Given the description of an element on the screen output the (x, y) to click on. 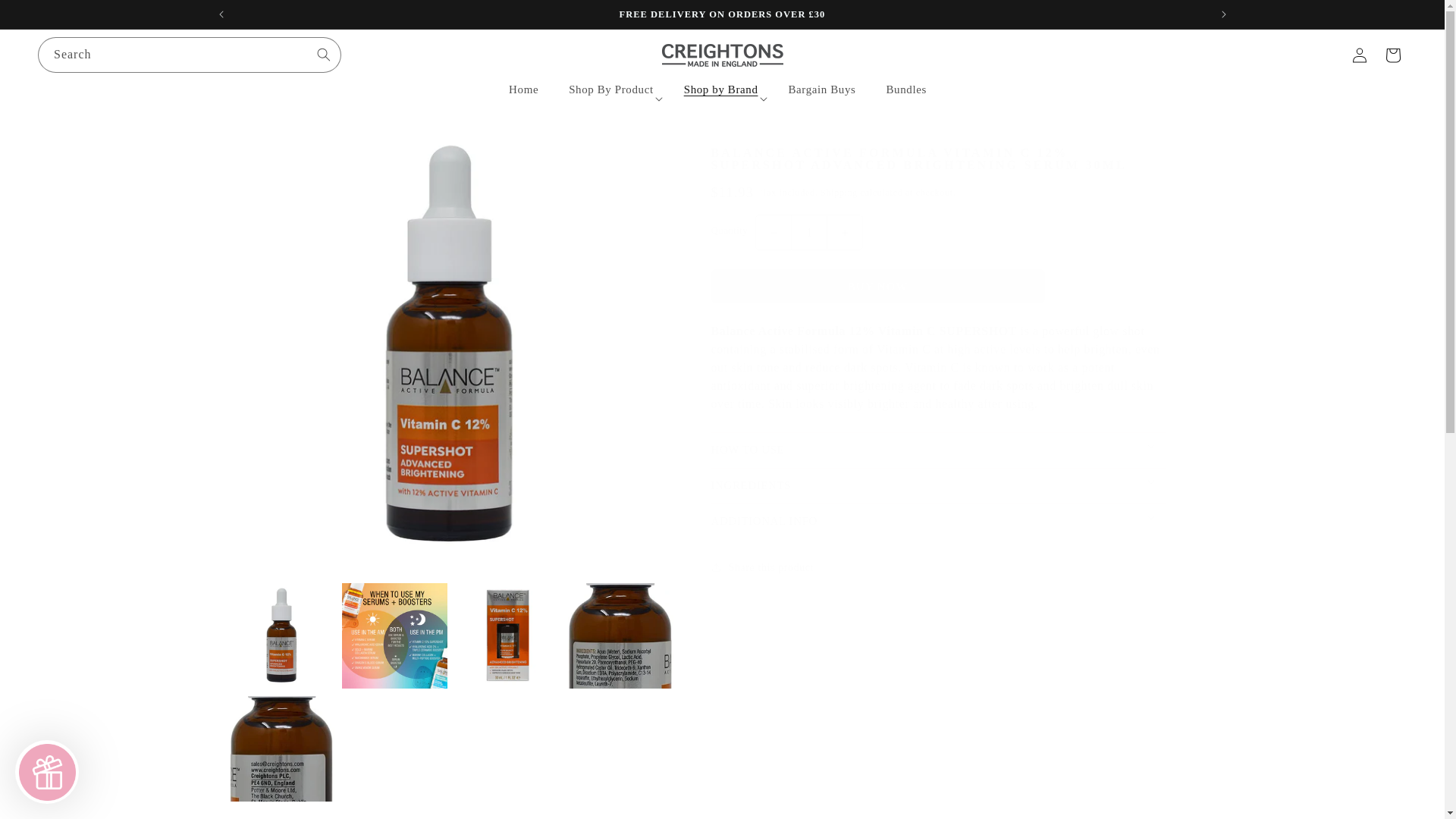
SKIP TO CONTENT (45, 16)
1 (808, 232)
